Given the description of an element on the screen output the (x, y) to click on. 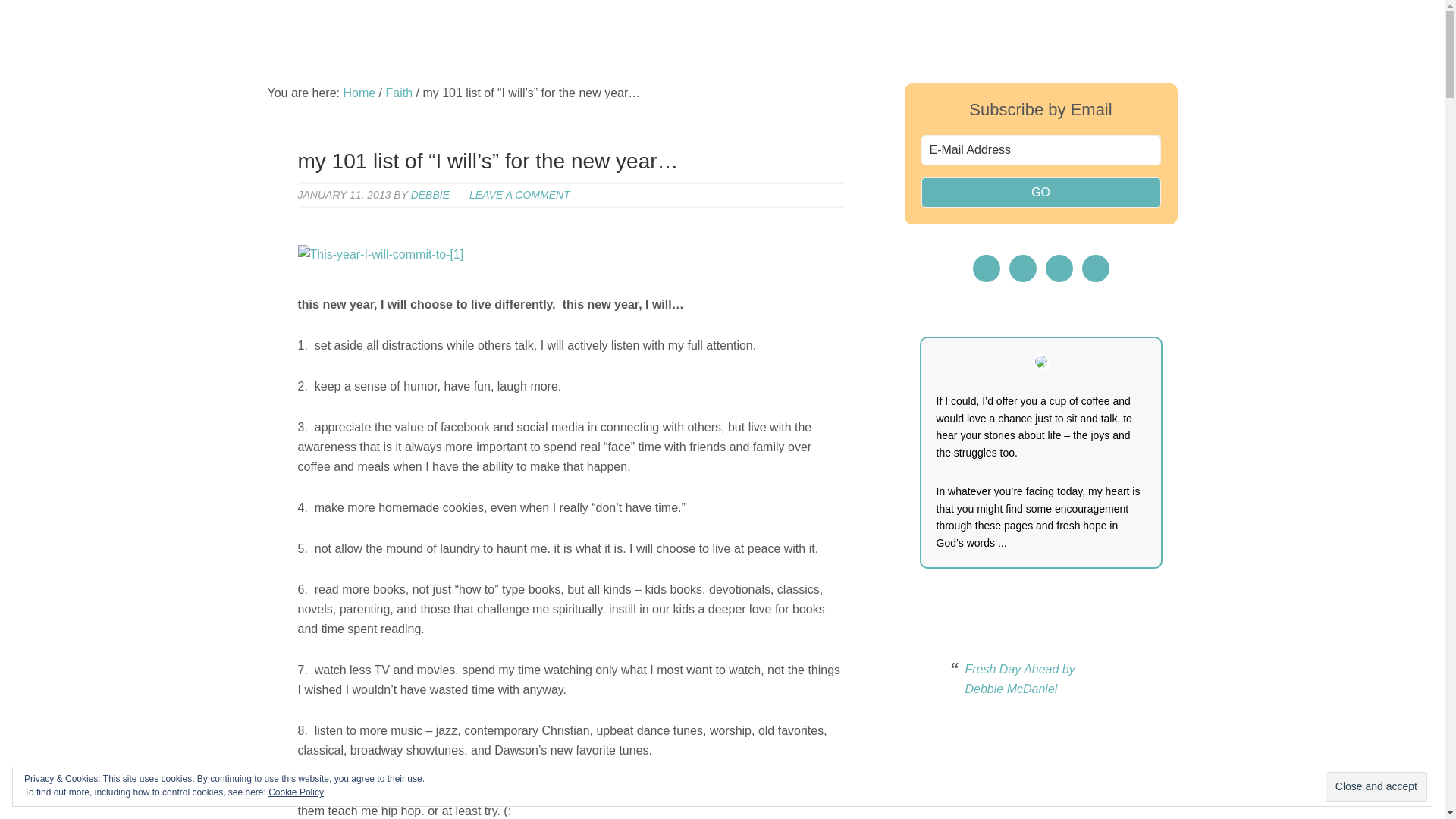
Fresh Day Ahead by Debbie McDaniel (1018, 678)
Faith (398, 92)
Debbie McDaniel (721, 53)
Home (358, 92)
Go (1040, 192)
Go (1040, 192)
LEAVE A COMMENT (519, 194)
DEBBIE (429, 194)
Close and accept (1375, 786)
